Given the description of an element on the screen output the (x, y) to click on. 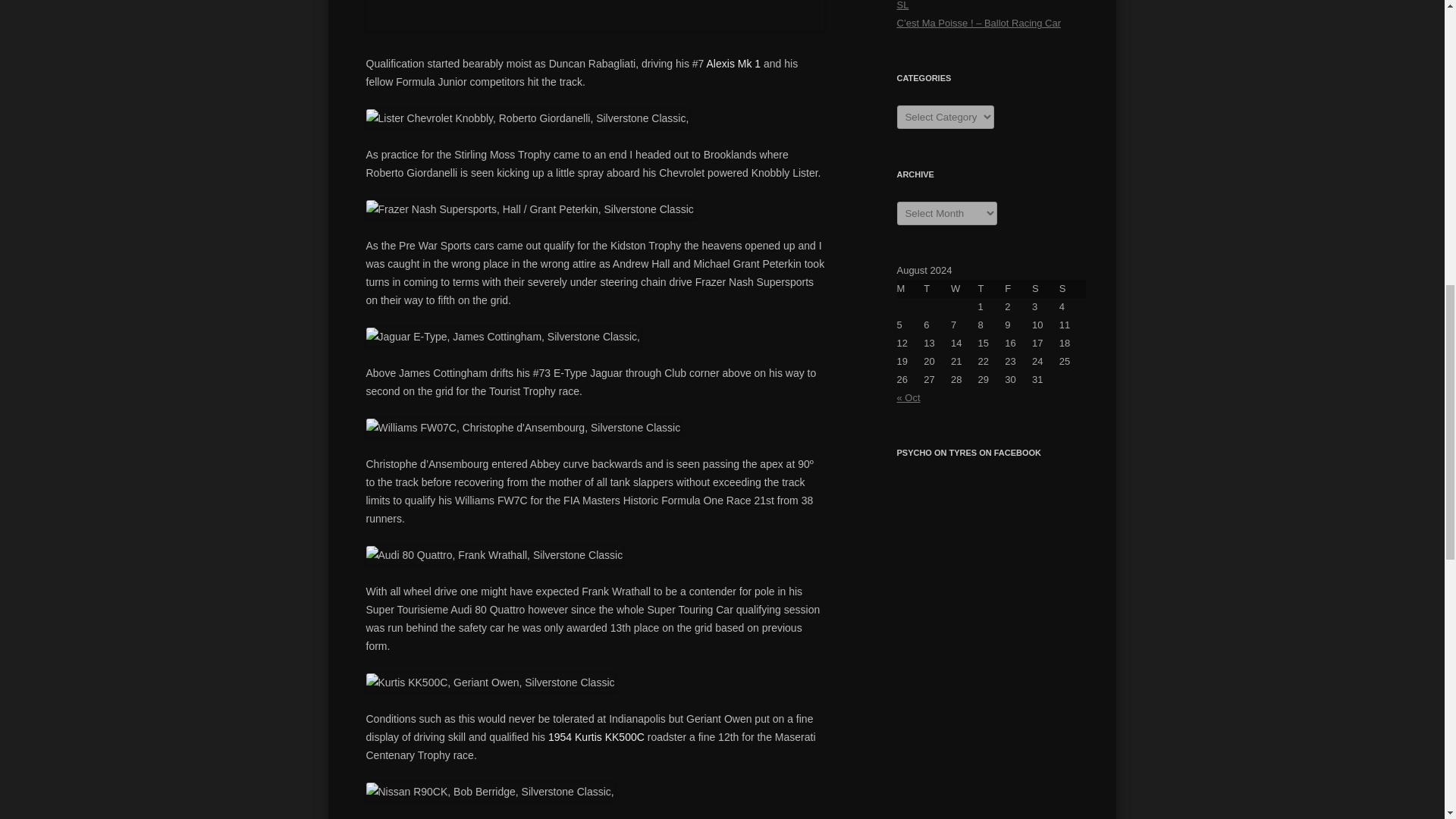
Monday (909, 289)
Thursday (992, 289)
Alexis Mk 1 (733, 63)
Friday (1018, 289)
Saturday (1045, 289)
Tuesday (936, 289)
1954 Kurtis KK500C (596, 736)
Wednesday (964, 289)
